Given the description of an element on the screen output the (x, y) to click on. 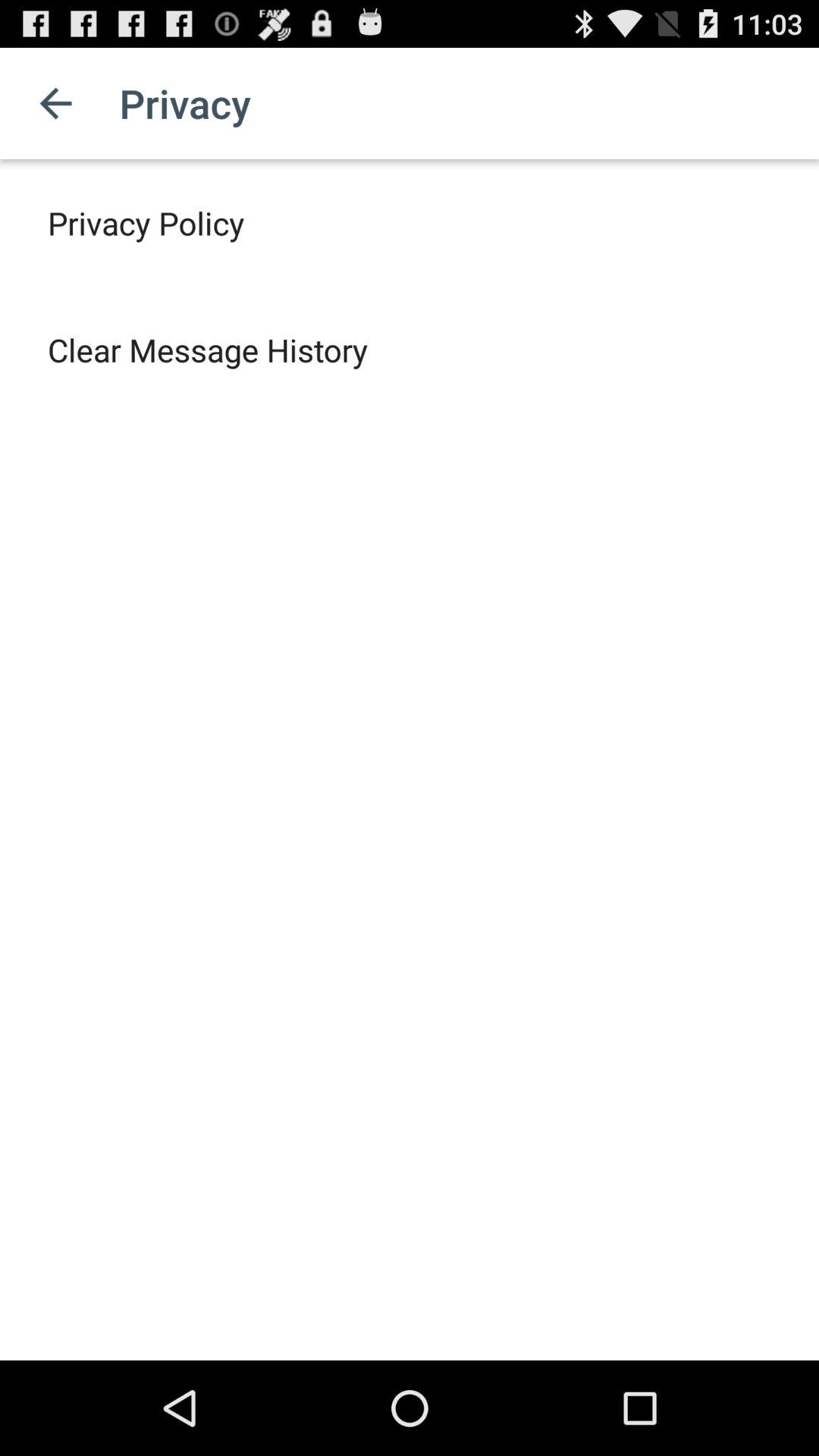
press app below privacy policy app (207, 349)
